Given the description of an element on the screen output the (x, y) to click on. 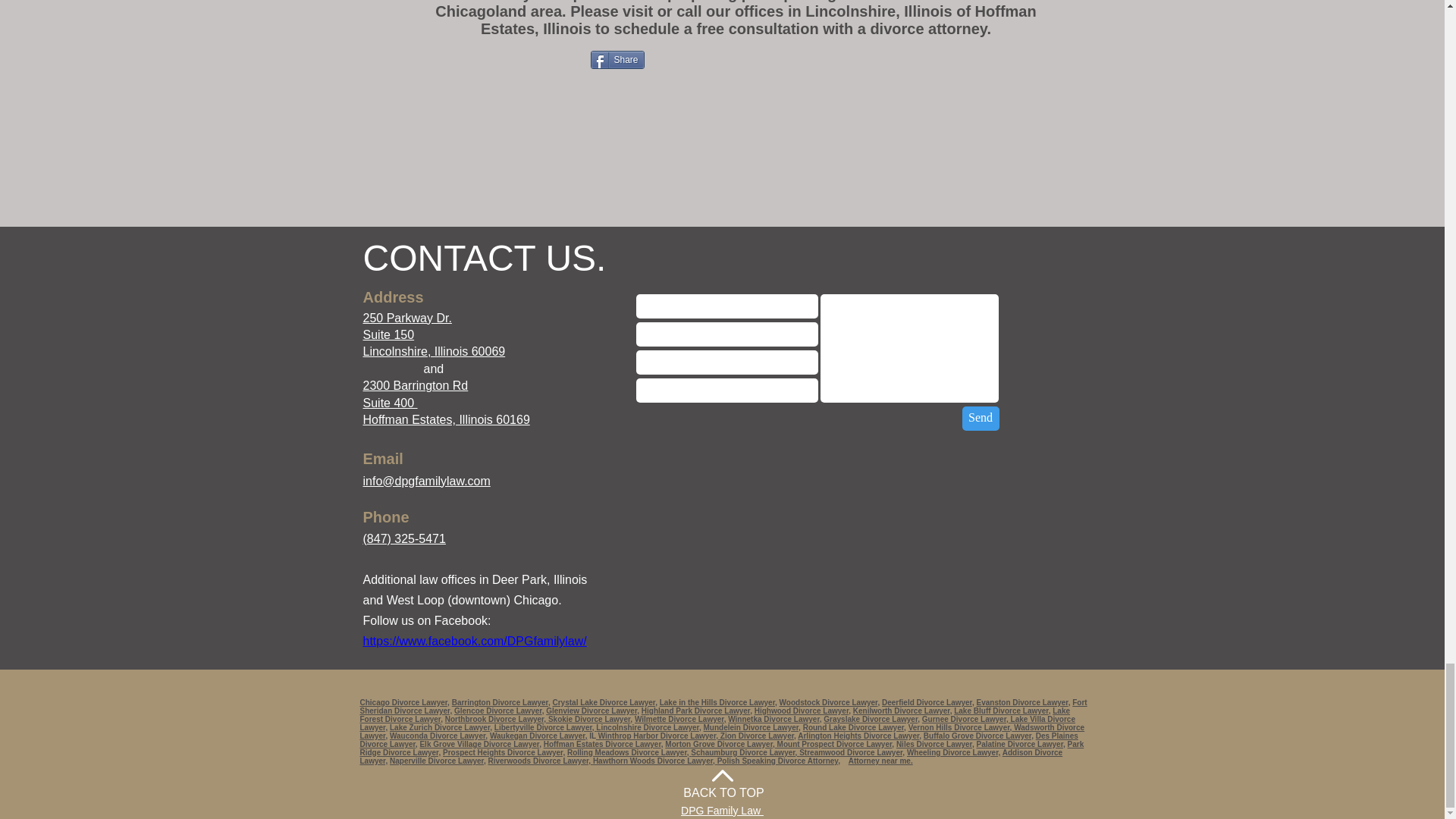
Share (616, 59)
Hoffman Estates, Illinois 60169 (445, 419)
250 Parkway Dr. (406, 318)
Suite 400  (389, 402)
Suite 150 (387, 334)
Share (616, 59)
Send (979, 418)
Lincolnshire, Illinois 60069 (433, 350)
2300 Barrington Rd (414, 385)
Facebook Like (547, 58)
